Given the description of an element on the screen output the (x, y) to click on. 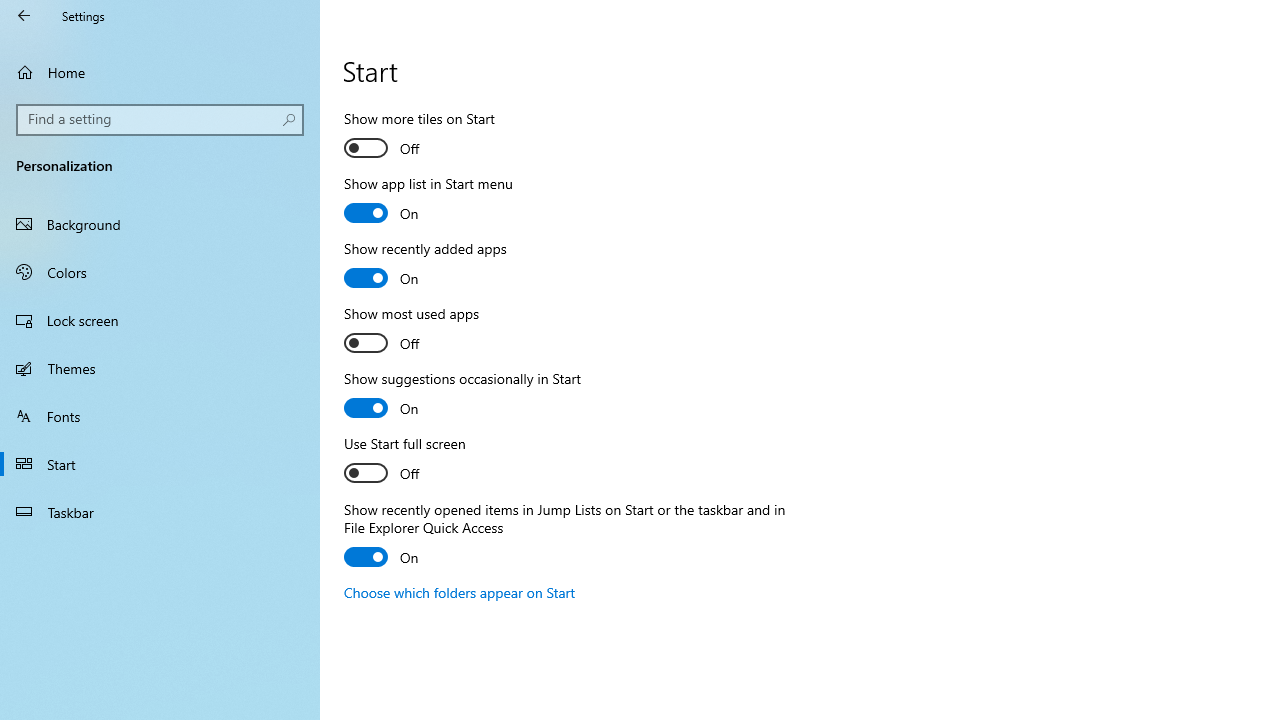
Show most used apps (417, 331)
Lock screen (160, 319)
Start (160, 463)
